Given the description of an element on the screen output the (x, y) to click on. 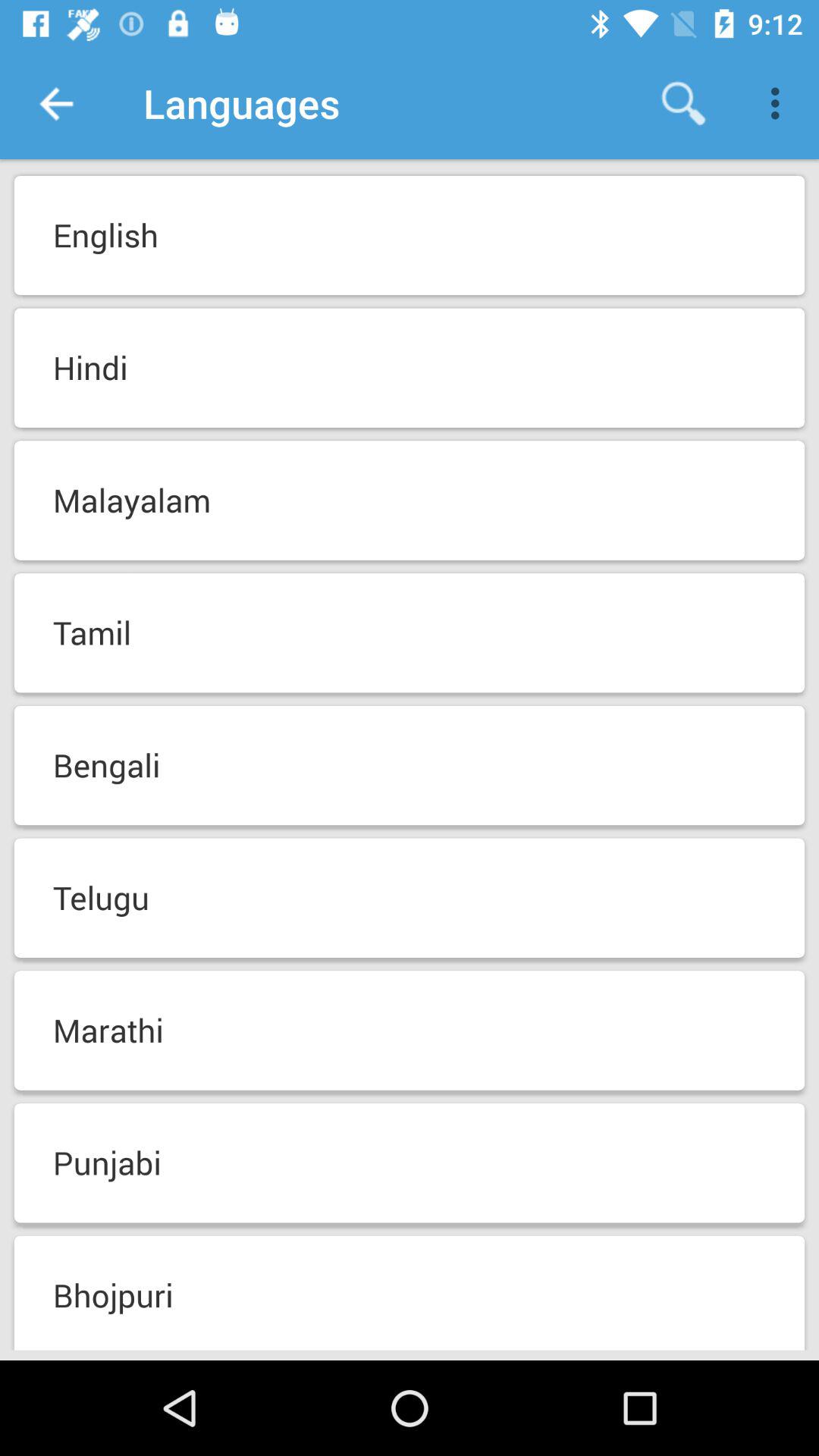
press app next to the languages  item (55, 103)
